Given the description of an element on the screen output the (x, y) to click on. 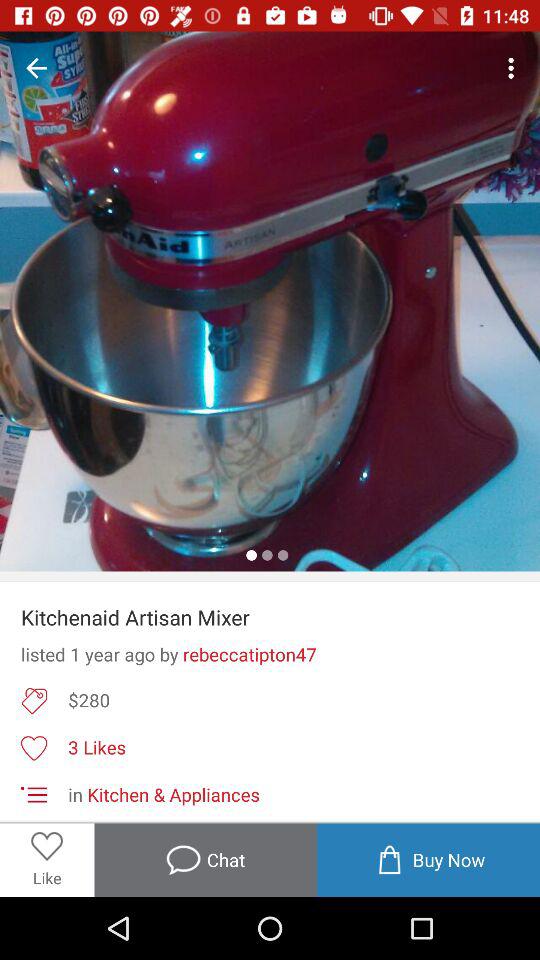
go to the icon right to like icon (205, 859)
go to the text below kitchenaid artisan mixer (269, 654)
select the button with three dots (514, 68)
